Given the description of an element on the screen output the (x, y) to click on. 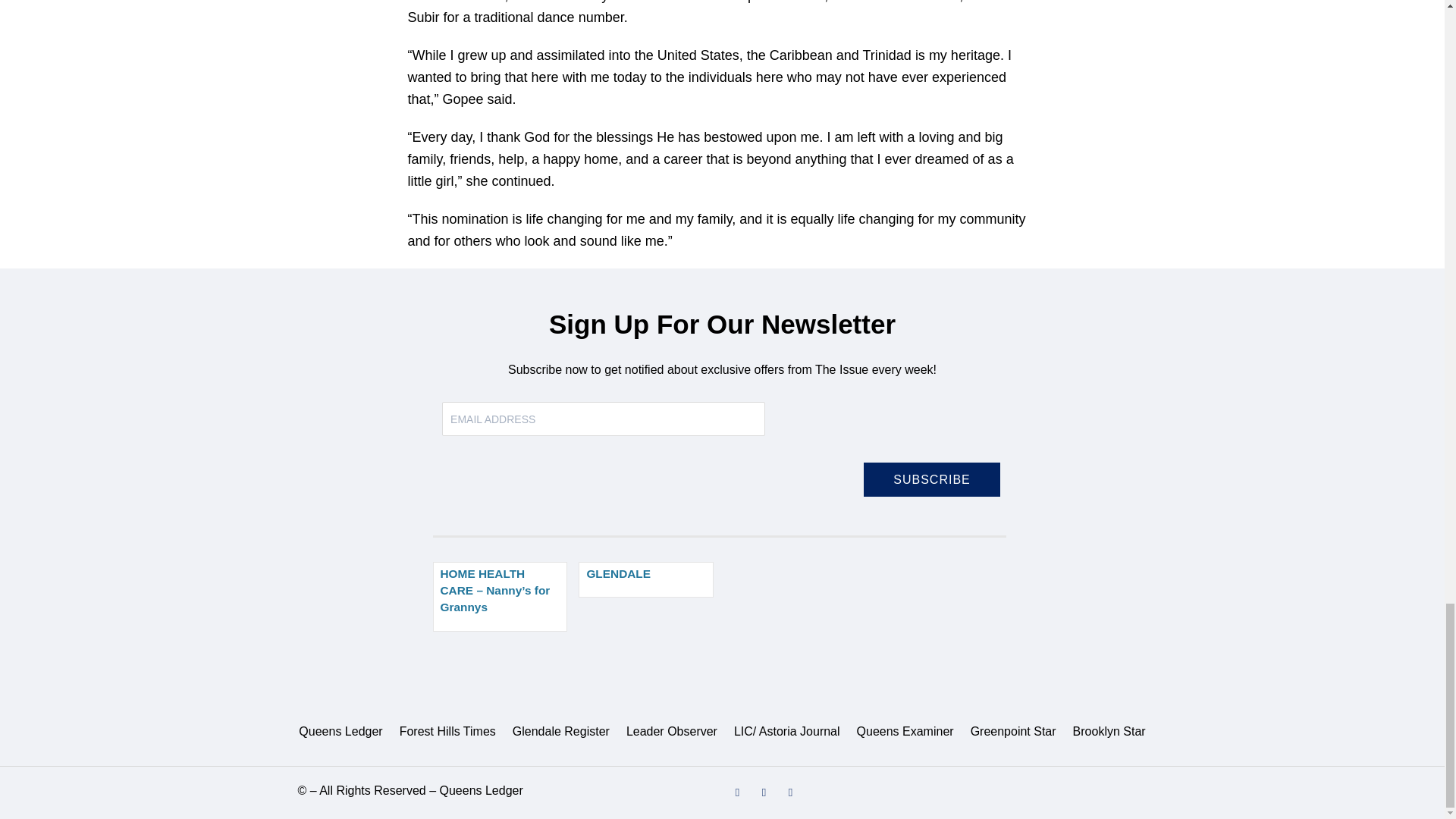
GLENDALE (618, 573)
GLENDALE (646, 579)
Subscribe (931, 479)
